Given the description of an element on the screen output the (x, y) to click on. 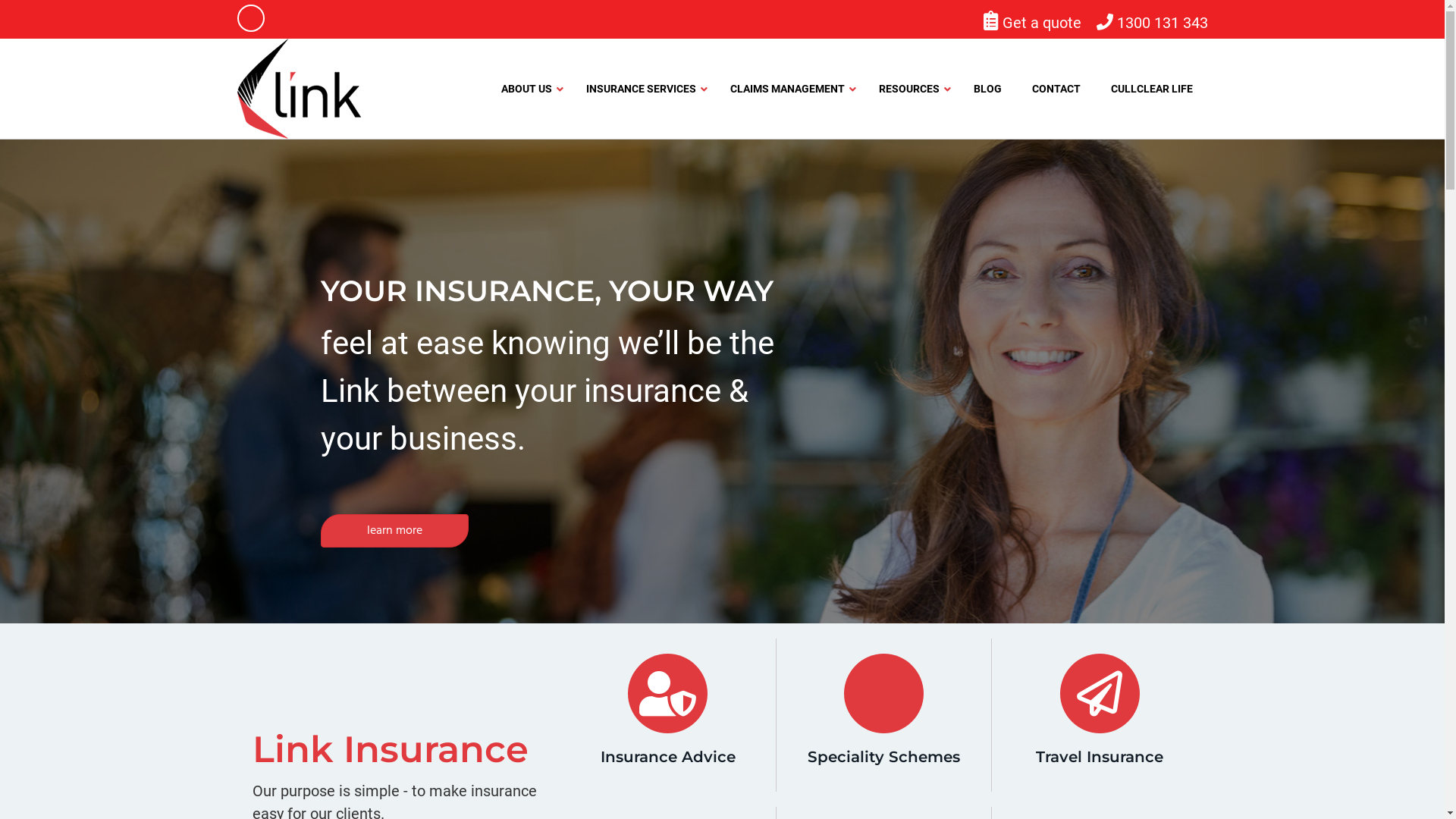
CLAIMS MANAGEMENT Element type: text (788, 88)
CULLCLEAR LIFE Element type: text (1151, 88)
learn more Element type: text (393, 530)
BLOG Element type: text (987, 88)
ABOUT US Element type: text (527, 88)
CONTACT Element type: text (1055, 88)
INSURANCE SERVICES Element type: text (642, 88)
Link Insurance Element type: text (389, 749)
Skip to primary navigation Element type: text (0, 0)
